Given the description of an element on the screen output the (x, y) to click on. 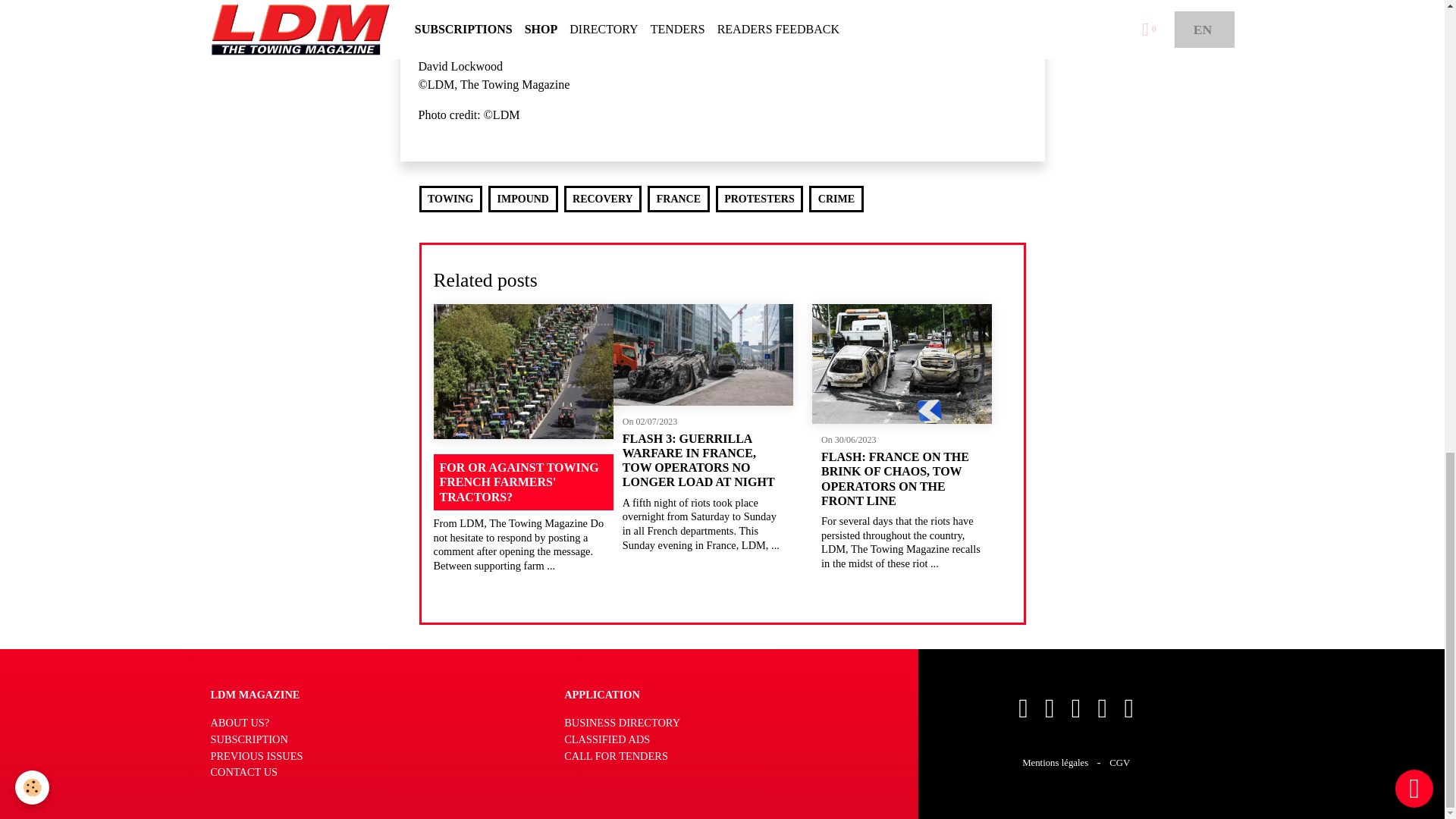
CALL FOR TENDERS (616, 756)
SUBSCRIPTION (249, 739)
CRIME (836, 198)
ABOUT US? (240, 722)
TOWING (450, 198)
RECOVERY (603, 198)
BUSINESS DIRECTORY (621, 722)
CONTACT US (244, 771)
PROTESTERS (759, 198)
IMPOUND (522, 198)
PREVIOUS ISSUES (256, 756)
FOR OR AGAINST TOWING FRENCH FARMERS' TRACTORS? (522, 482)
FRANCE (678, 198)
